Given the description of an element on the screen output the (x, y) to click on. 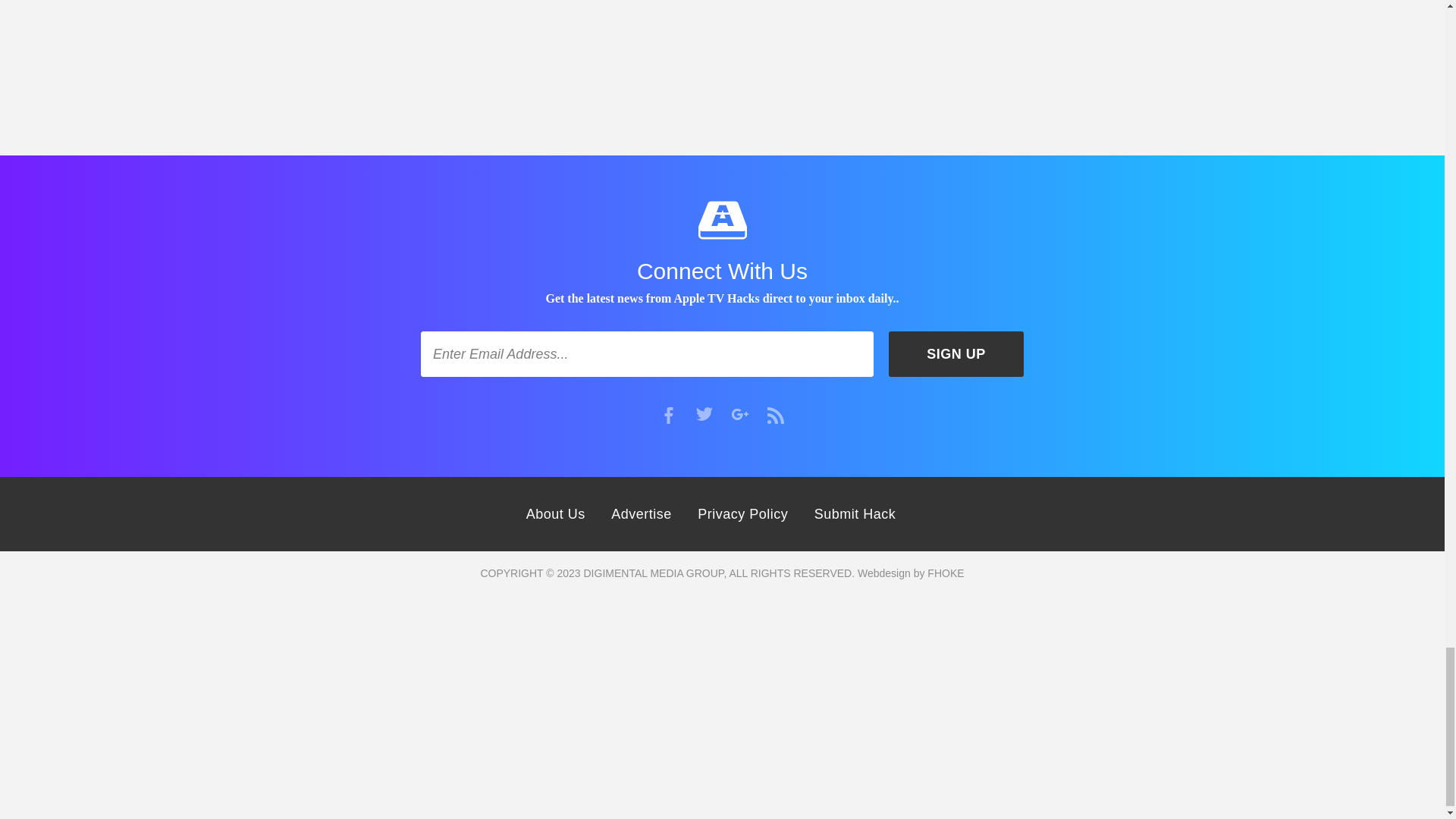
Sign Up (955, 353)
